Given the description of an element on the screen output the (x, y) to click on. 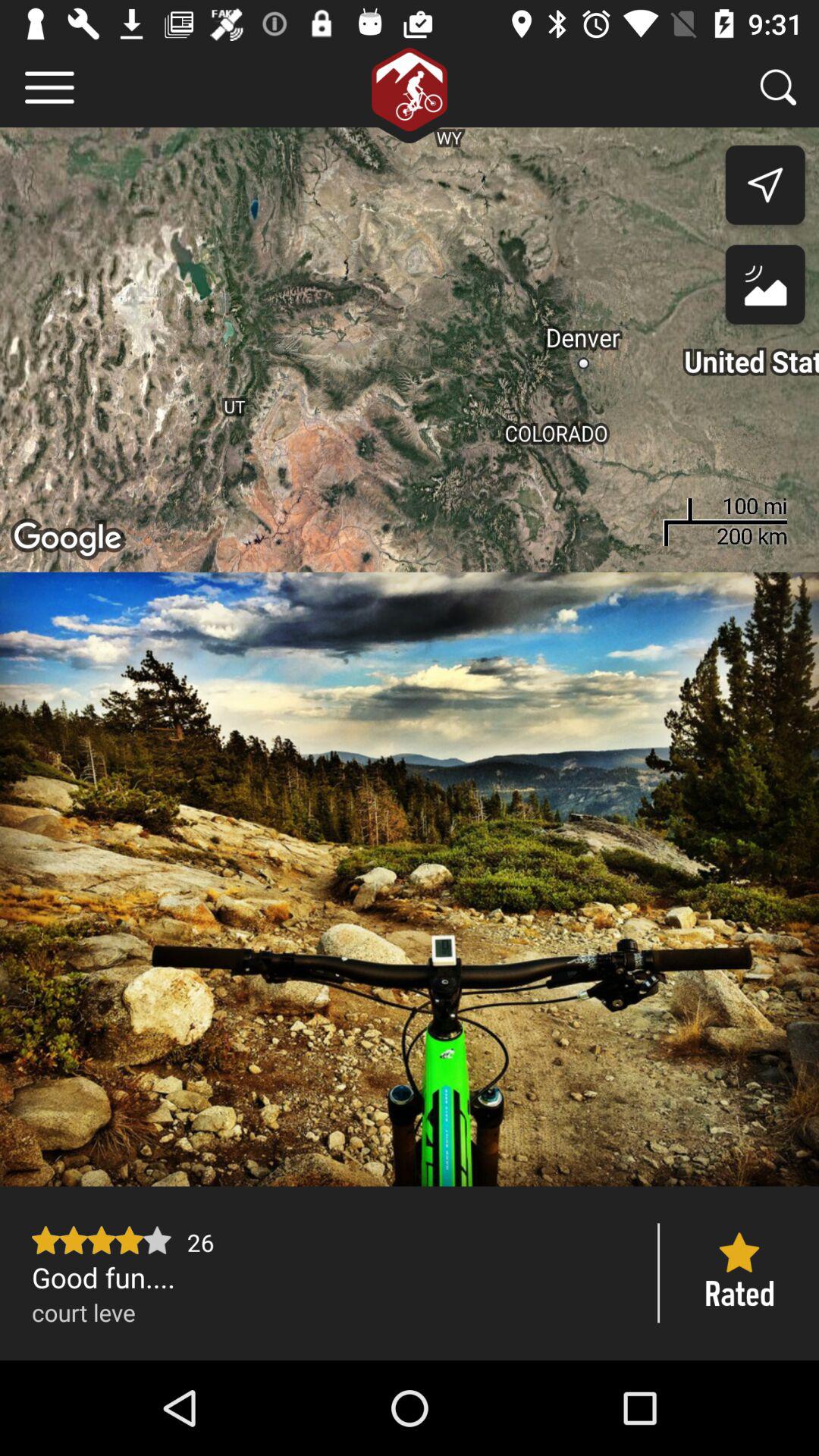
go to the main menu (49, 87)
